Given the description of an element on the screen output the (x, y) to click on. 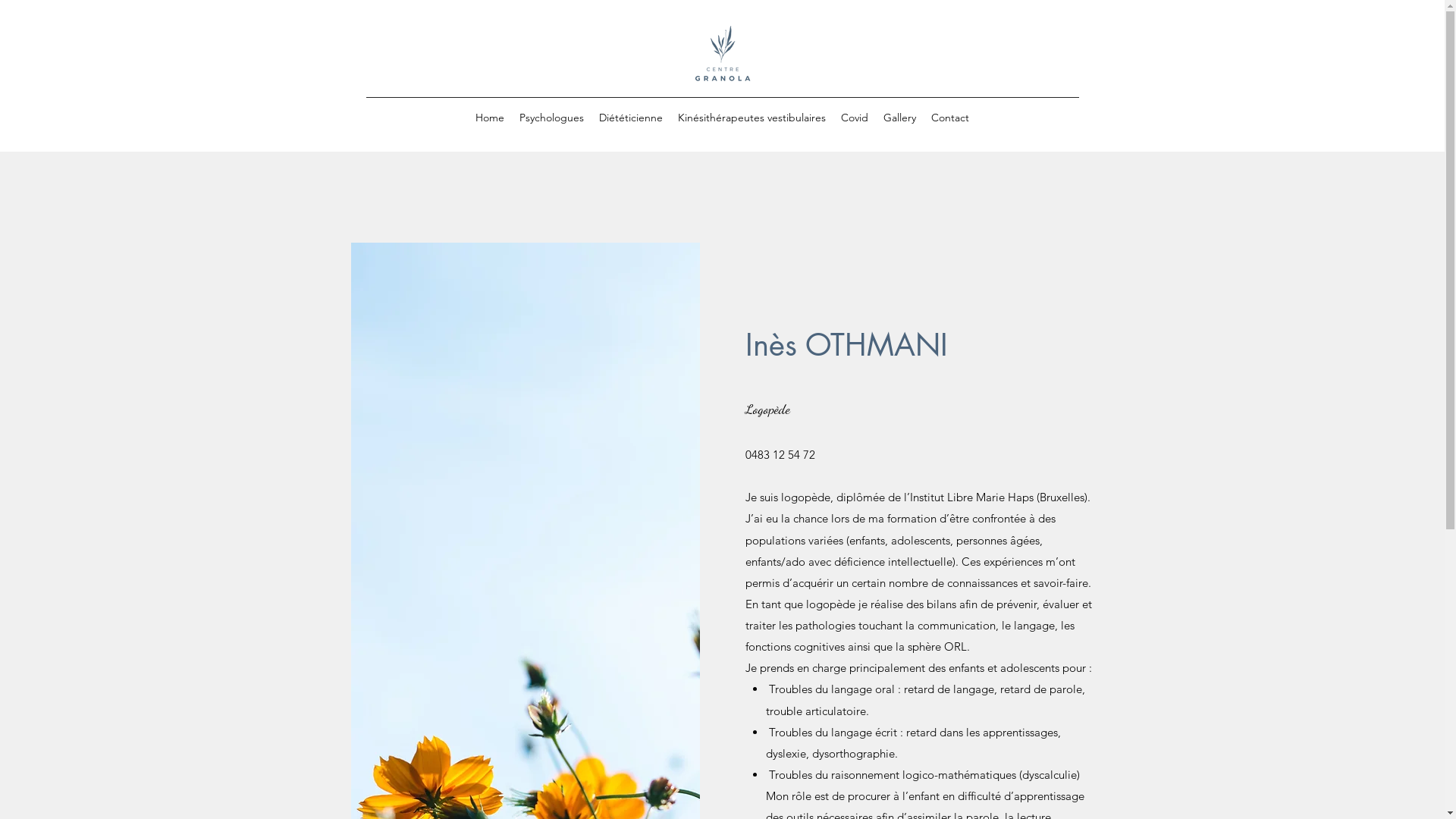
Home Element type: text (489, 117)
Gallery Element type: text (899, 117)
Contact Element type: text (949, 117)
Covid Element type: text (854, 117)
Psychologues Element type: text (551, 117)
